Given the description of an element on the screen output the (x, y) to click on. 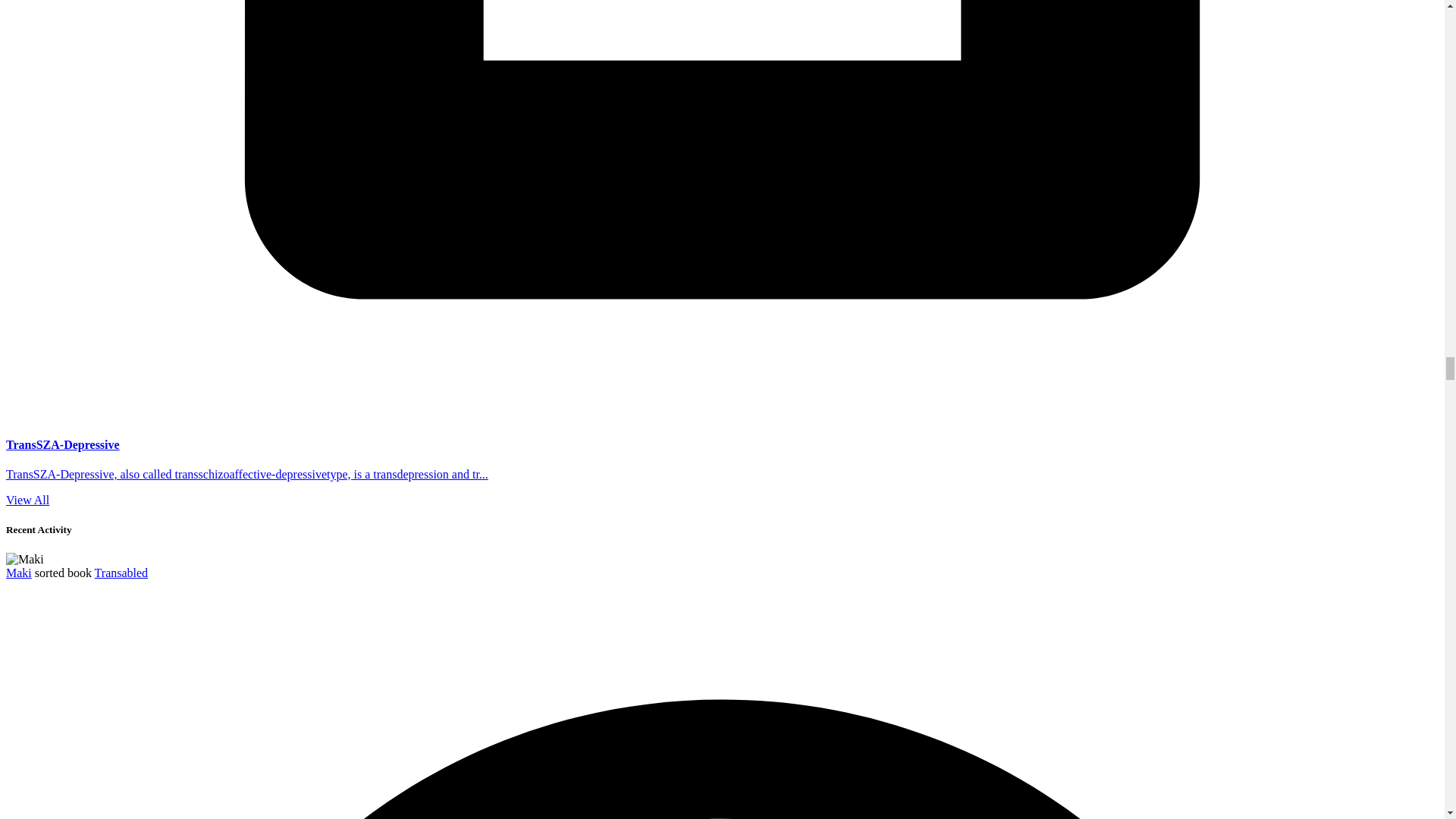
View All (27, 499)
Maki (18, 572)
